Given the description of an element on the screen output the (x, y) to click on. 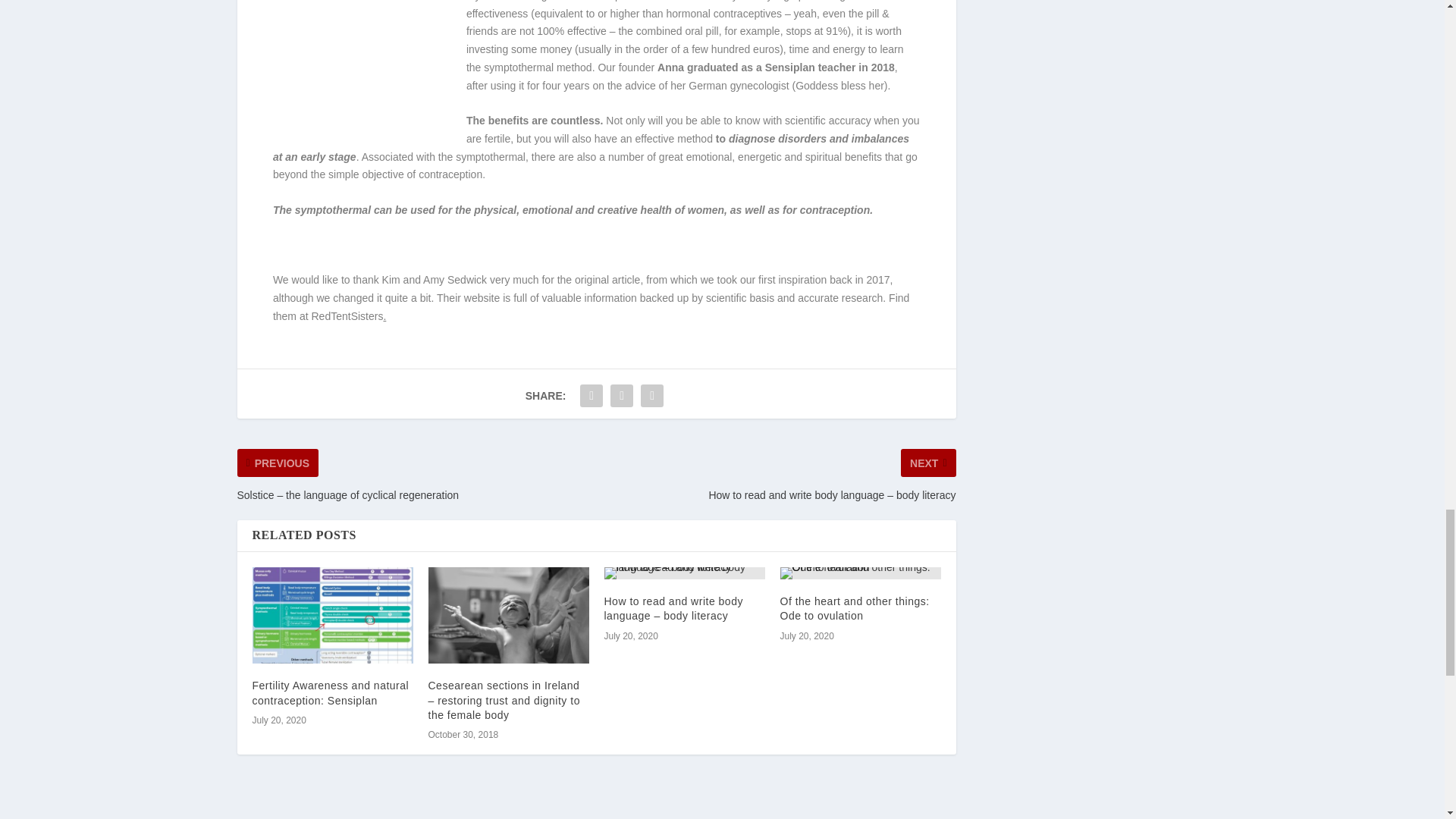
Fertility Awareness and natural contraception: Sensiplan (330, 692)
Sensiplan (790, 67)
Of the heart and other things: Ode to ovulation (859, 573)
Fertility Awareness and natural contraception: Sensiplan (331, 615)
RedTentSisters (346, 316)
